Given the description of an element on the screen output the (x, y) to click on. 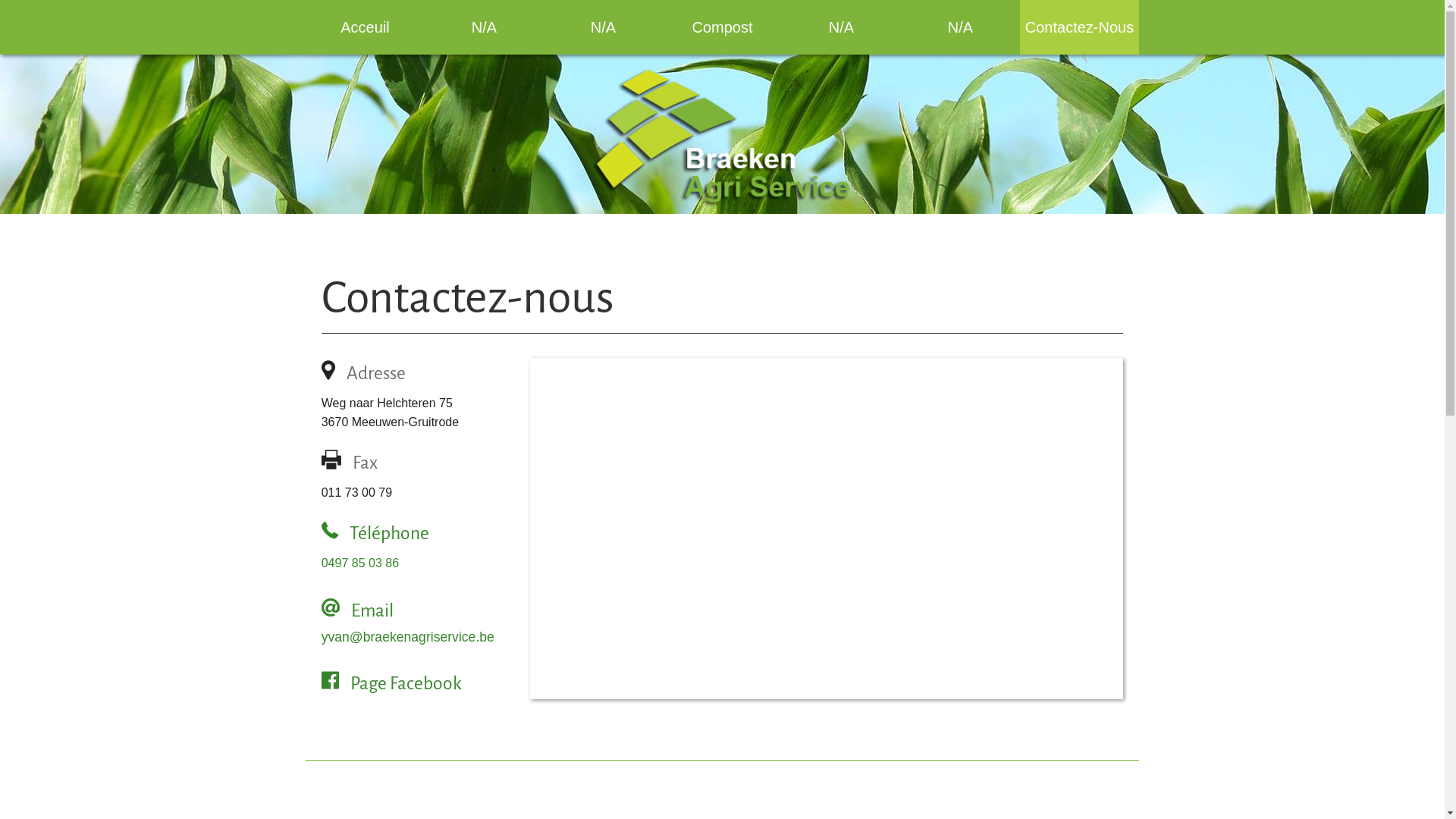
N/A Element type: text (959, 27)
N/A Element type: text (840, 27)
Acceuil Element type: text (364, 27)
N/A Element type: text (602, 27)
Compost Element type: text (721, 27)
Email
yvan@braekenagriservice.be Element type: text (407, 623)
Page Facebook Element type: text (391, 689)
Contactez-Nous Element type: text (1079, 27)
N/A Element type: text (483, 27)
